Given the description of an element on the screen output the (x, y) to click on. 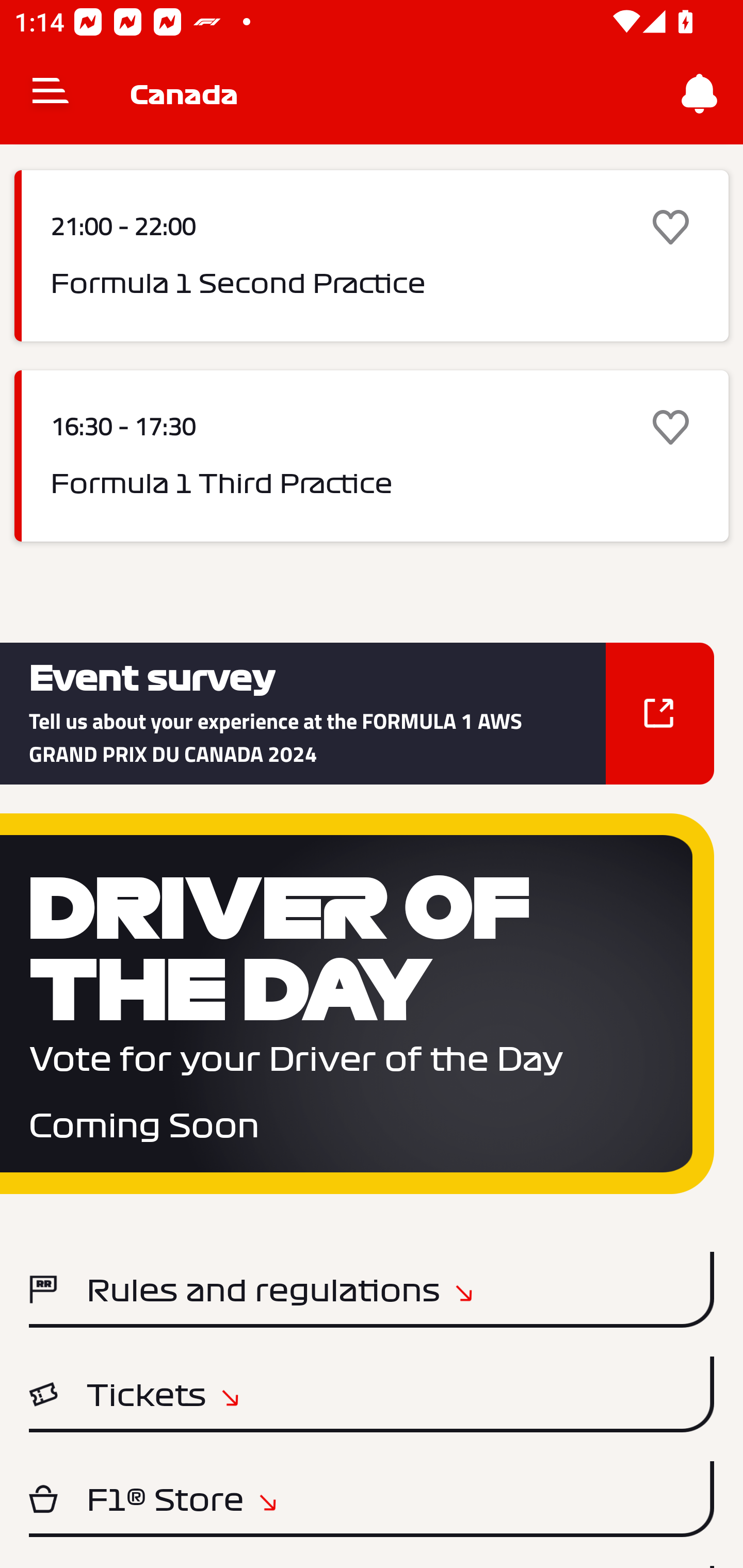
Navigate up (50, 93)
Notifications (699, 93)
21:00 - 22:00 Formula 1 Second Practice (371, 255)
16:30 - 17:30 Formula 1 Third Practice (371, 455)
Rules and regulations (371, 1289)
Tickets (371, 1393)
F1® Store (371, 1498)
